Given the description of an element on the screen output the (x, y) to click on. 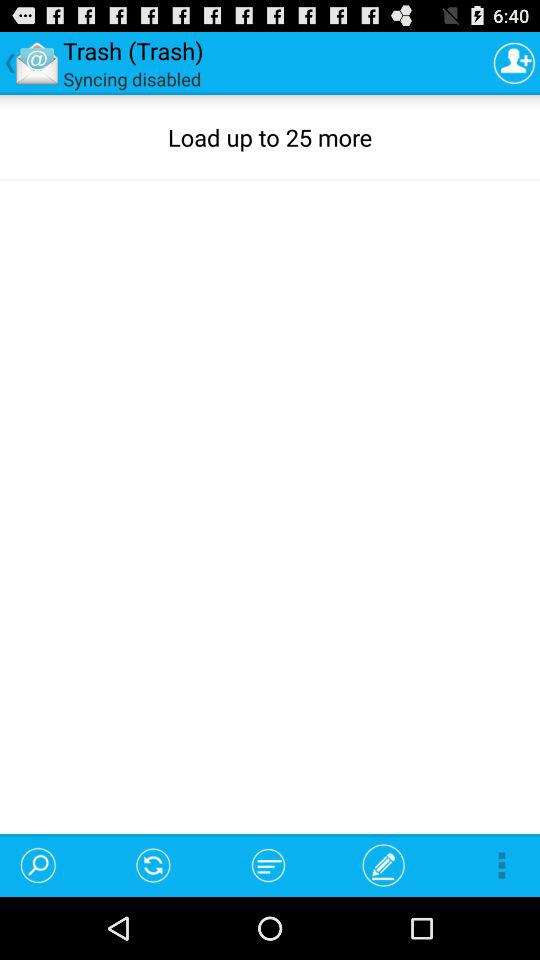
the study bible (514, 62)
